Given the description of an element on the screen output the (x, y) to click on. 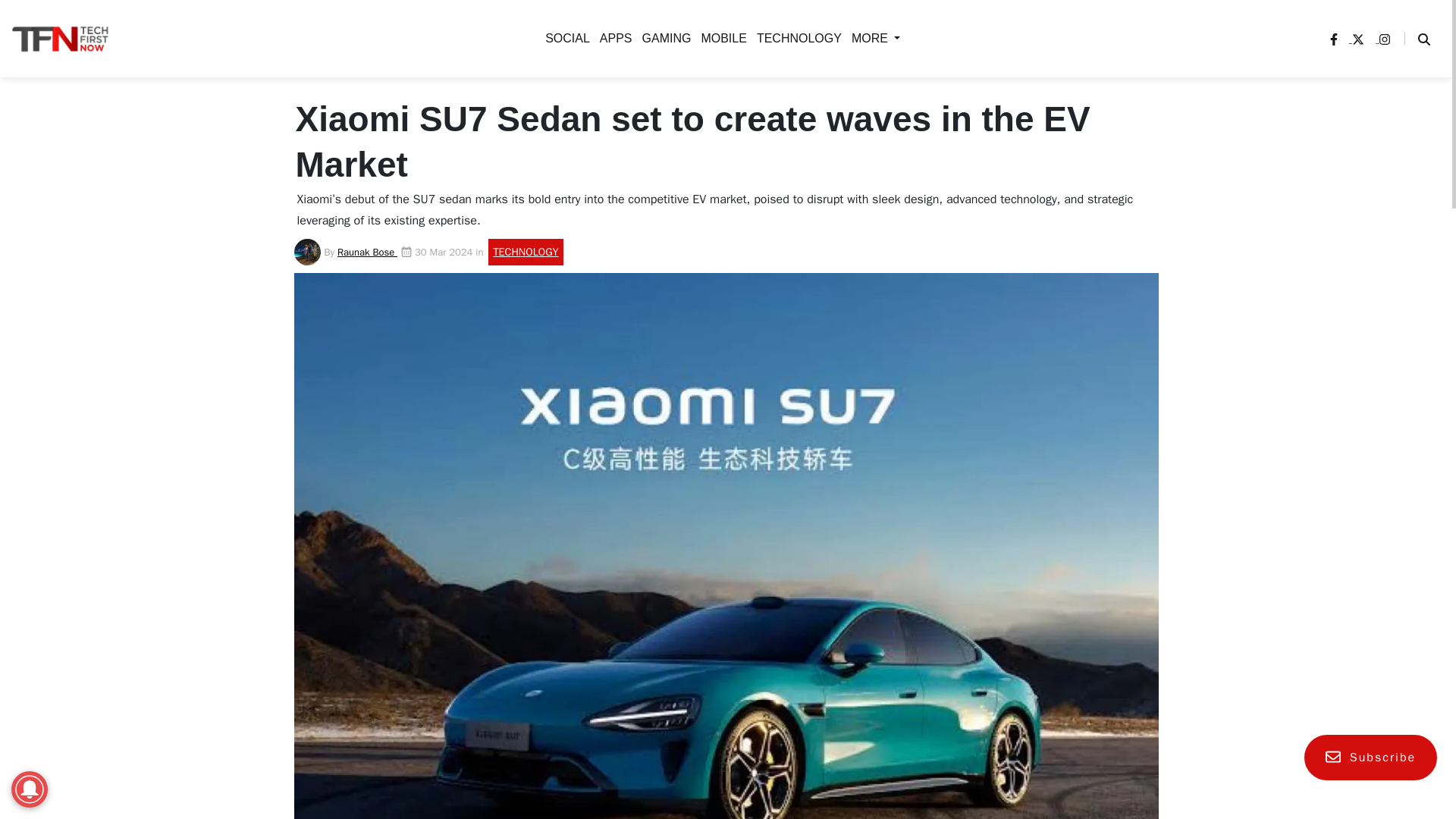
TECHNOLOGY (796, 38)
Raunak Bose (367, 251)
TECHNOLOGY (403, 193)
